Given the description of an element on the screen output the (x, y) to click on. 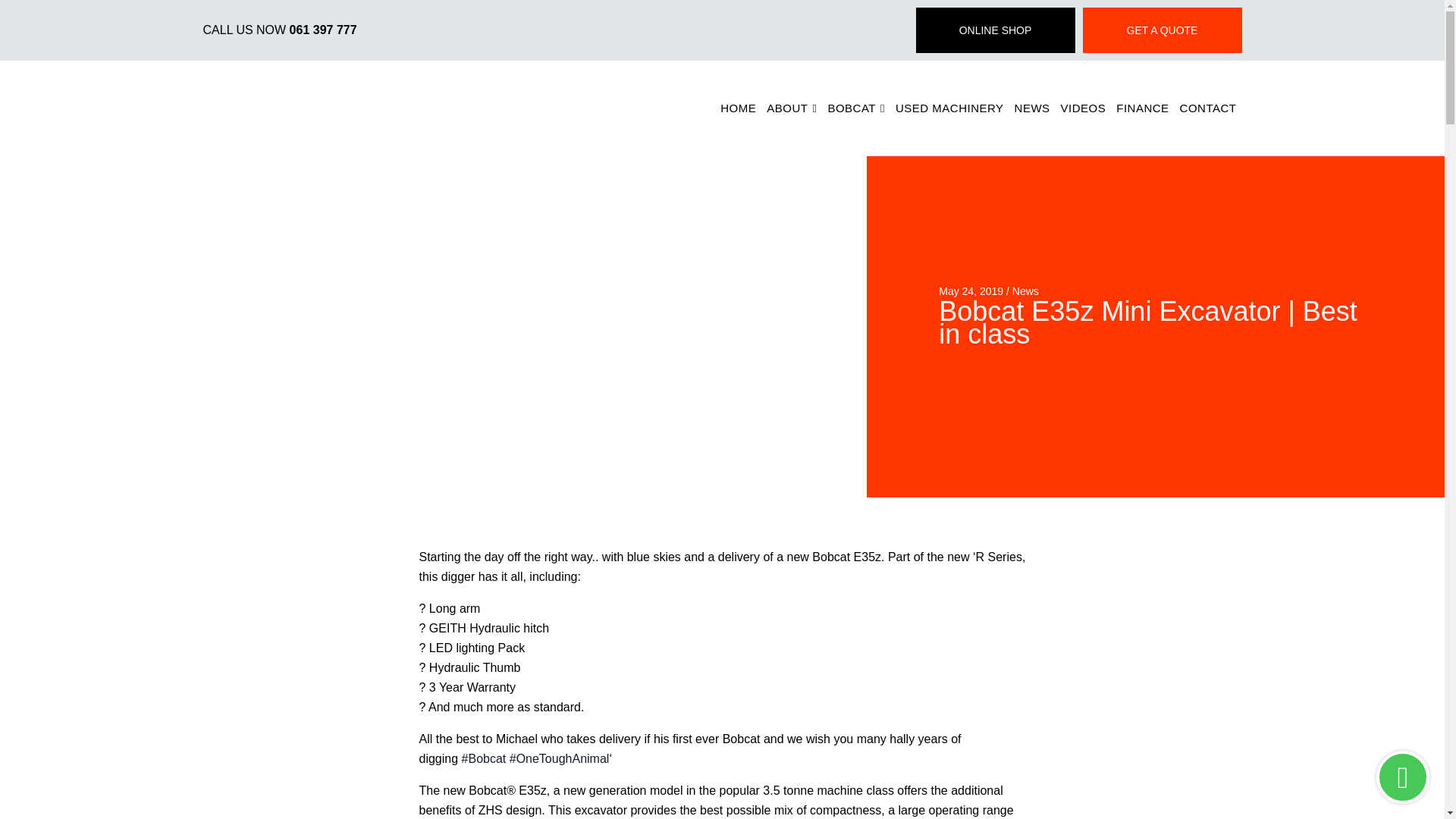
News (1025, 291)
USED MACHINERY (949, 108)
NEWS (1032, 108)
FINANCE (1141, 108)
ABOUT (791, 108)
CONTACT (1207, 108)
ONLINE SHOP (995, 30)
VIDEOS (1083, 108)
BOBCAT (855, 108)
HOME (737, 108)
